Given the description of an element on the screen output the (x, y) to click on. 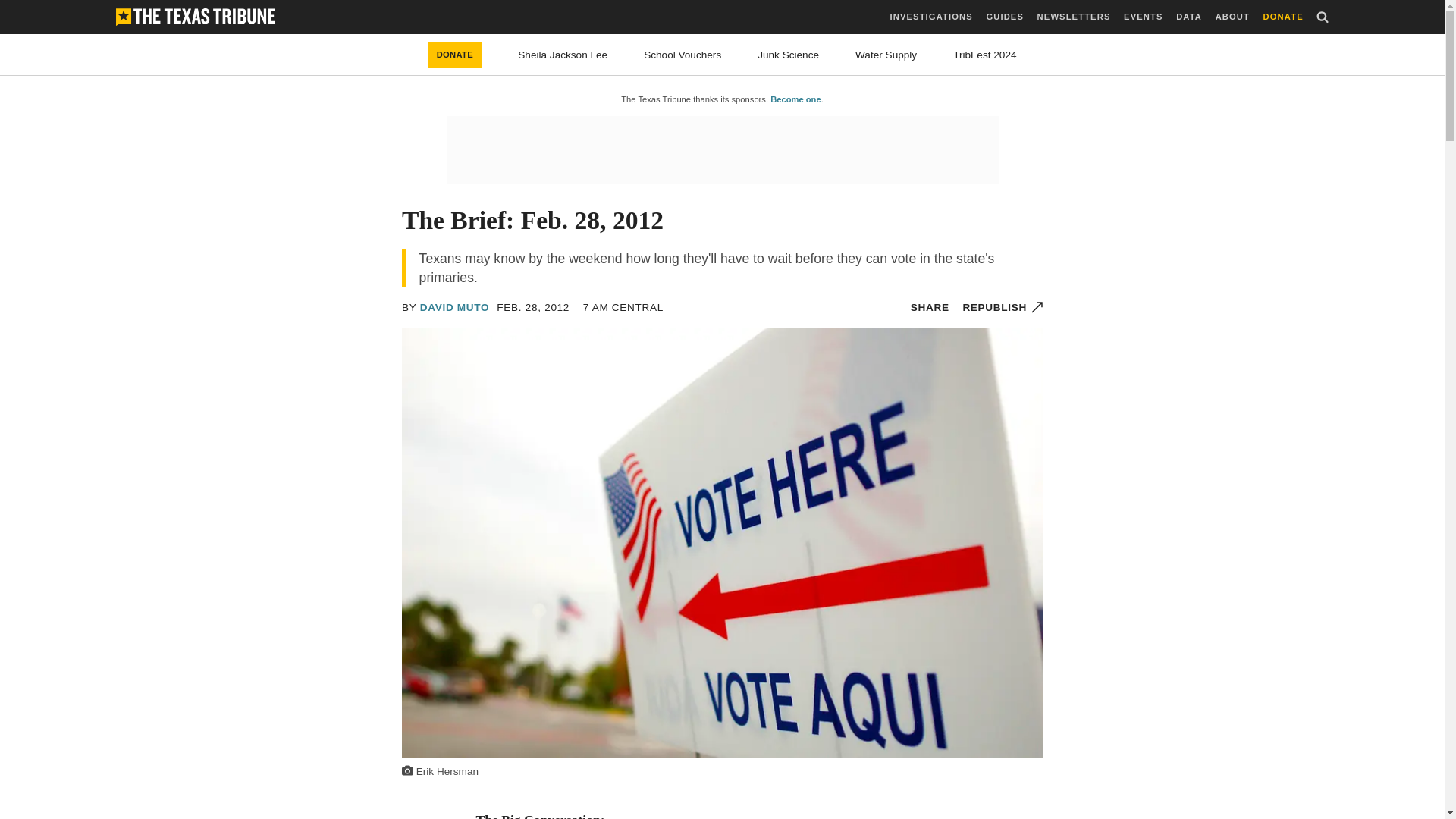
TribFest 2024 (984, 54)
2012-02-28 07:00 CST (532, 307)
DAVID MUTO (454, 307)
Become one (795, 99)
ABOUT (1232, 17)
Sheila Jackson Lee (562, 54)
Water Supply (886, 54)
NEWSLETTERS (1073, 17)
2012-02-28 07:00 CST (623, 307)
INVESTIGATIONS (930, 17)
3rd party ad content (721, 150)
REPUBLISH (1002, 307)
EVENTS (1142, 17)
School Vouchers (681, 54)
GUIDES (1004, 17)
